Given the description of an element on the screen output the (x, y) to click on. 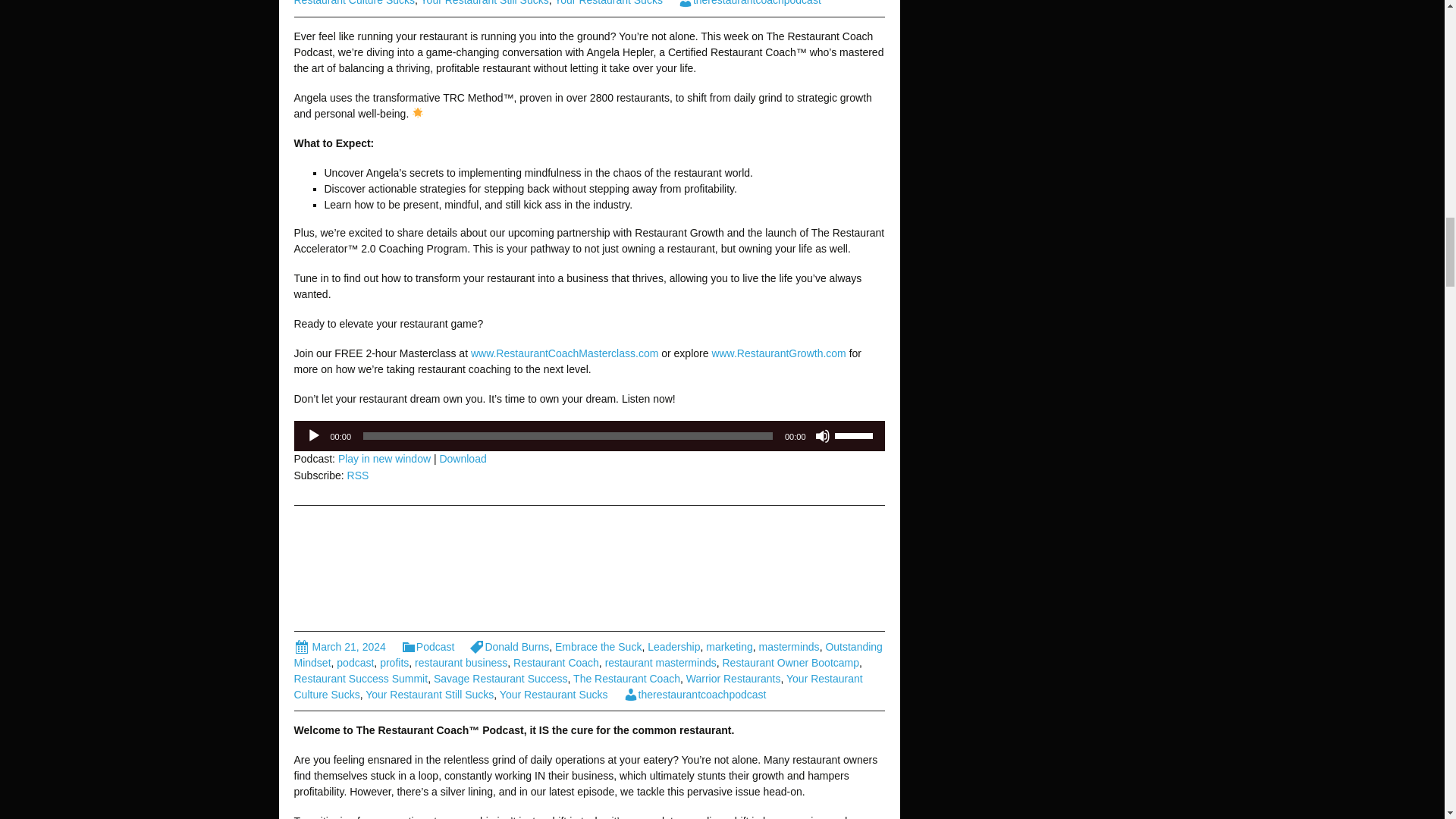
Play (313, 435)
View all posts by therestaurantcoachpodcast (749, 2)
